Given the description of an element on the screen output the (x, y) to click on. 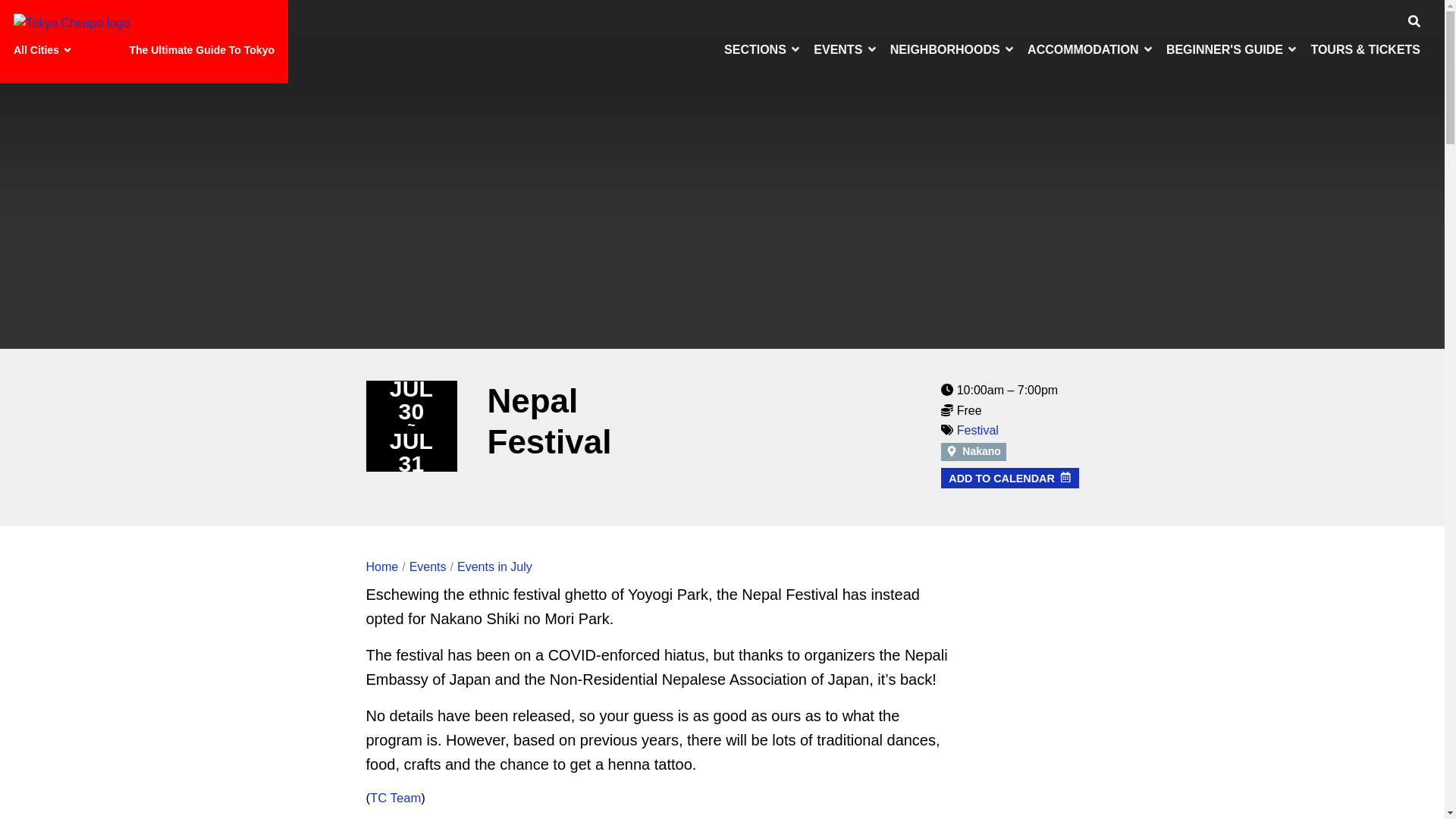
All Cities (45, 50)
NEIGHBORHOODS (952, 49)
Tokyo Cheapo Homepage (71, 22)
EVENTS (845, 49)
Tokyo Cheapo (71, 23)
Sections (762, 49)
SECTIONS (762, 49)
